Given the description of an element on the screen output the (x, y) to click on. 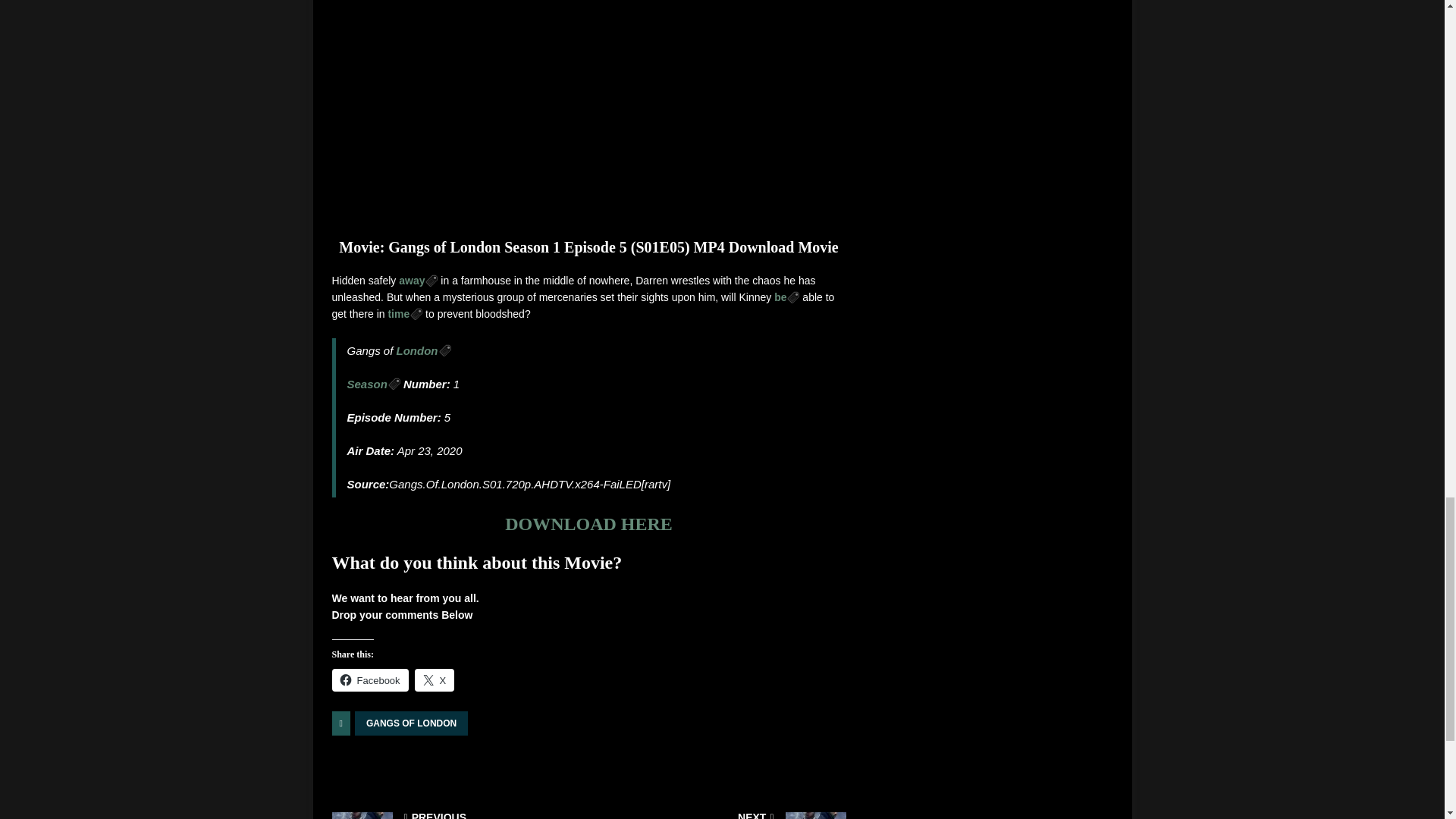
be (786, 297)
away (418, 280)
GANGS OF LONDON (411, 723)
Click to share on Facebook (370, 680)
DOWNLOAD HERE (588, 523)
Facebook (370, 680)
Season (373, 383)
X (434, 680)
Click to share on X (434, 680)
London (423, 350)
time (404, 313)
